Given the description of an element on the screen output the (x, y) to click on. 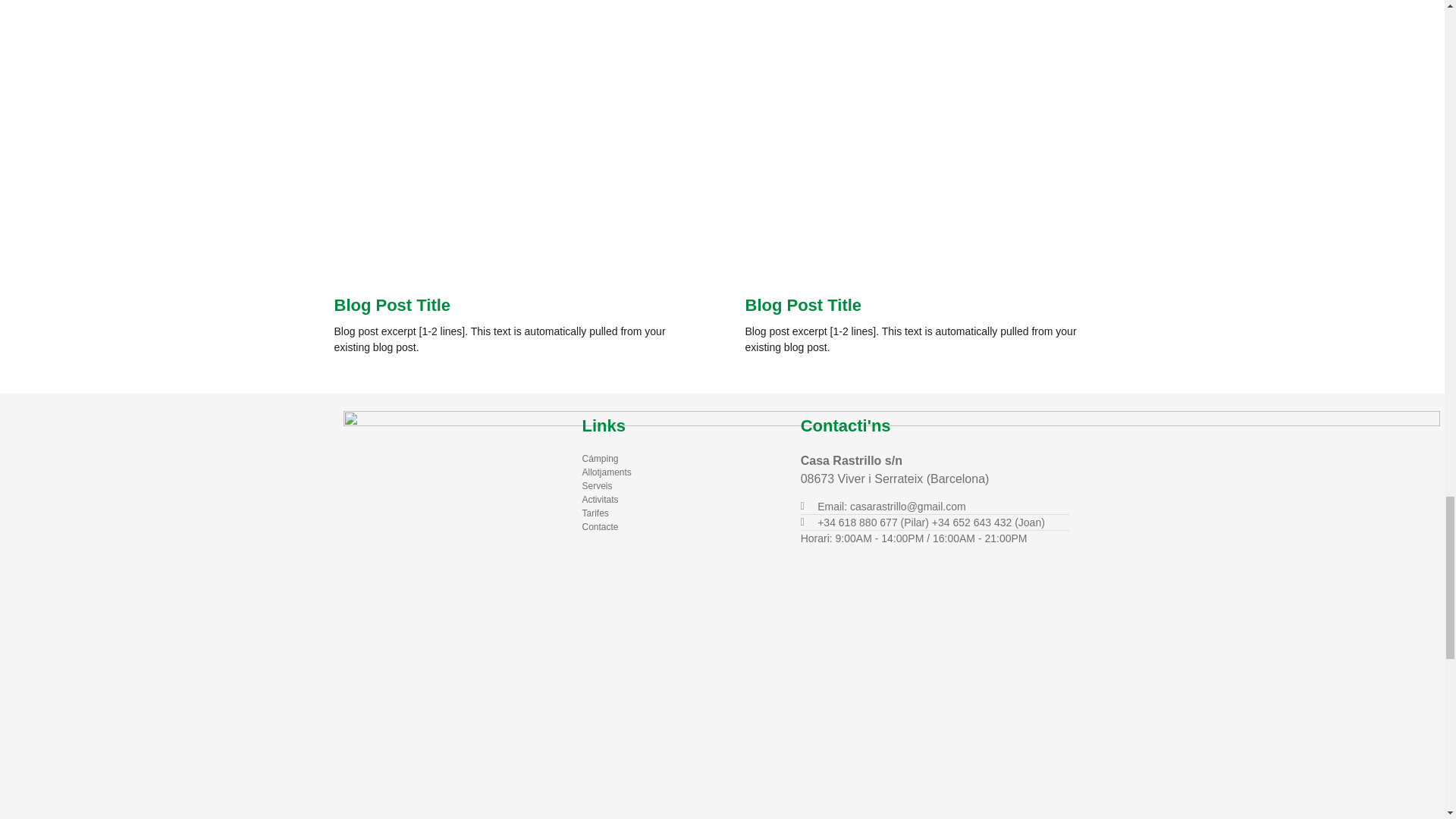
Allotjaments (678, 472)
Read More (363, 383)
Read More (774, 383)
Blog Post Title (391, 304)
Blog Post Title (802, 304)
